Given the description of an element on the screen output the (x, y) to click on. 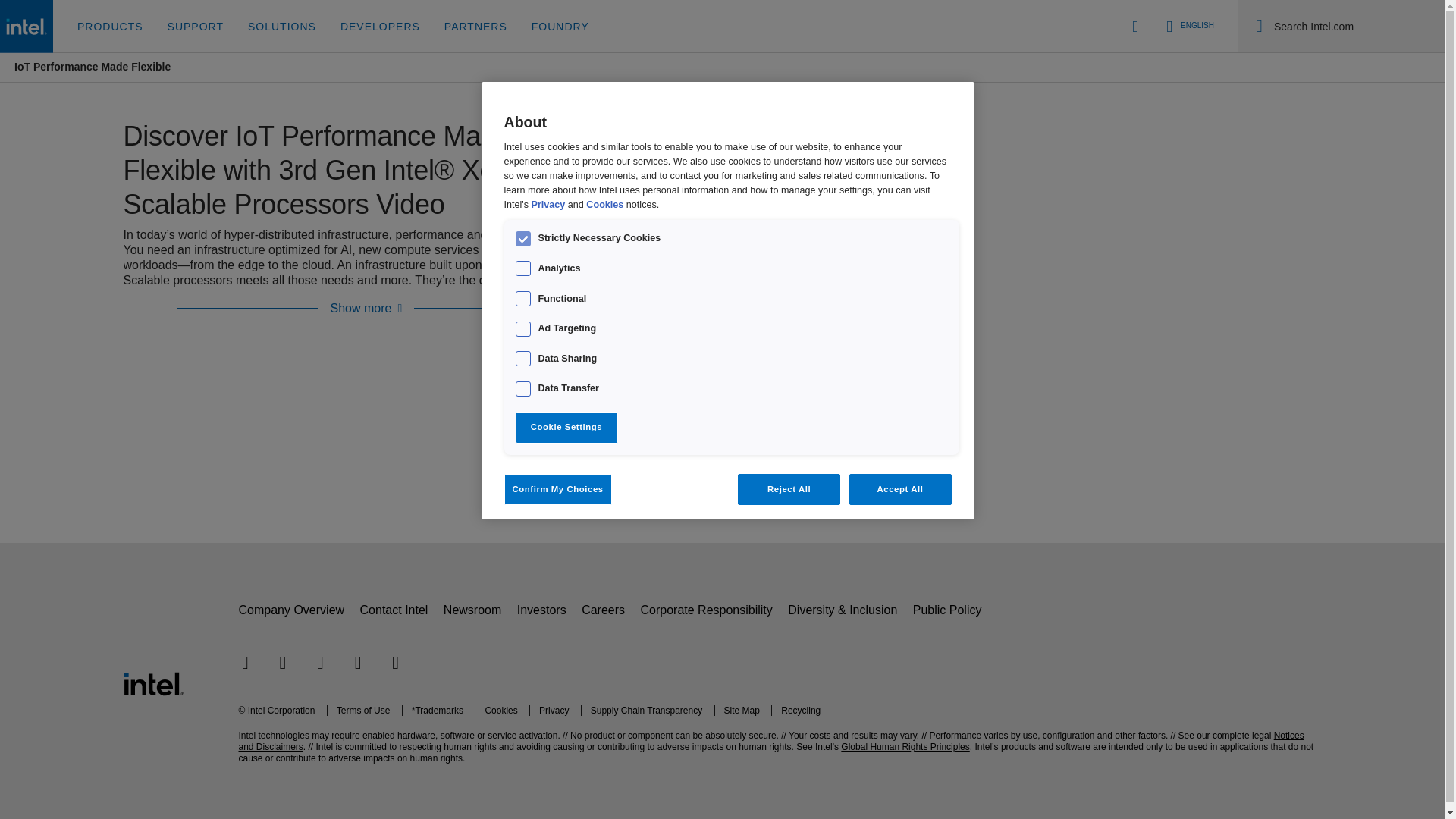
Intel Footer Logo (152, 683)
PRODUCTS (110, 26)
Language Selector (1187, 26)
